Given the description of an element on the screen output the (x, y) to click on. 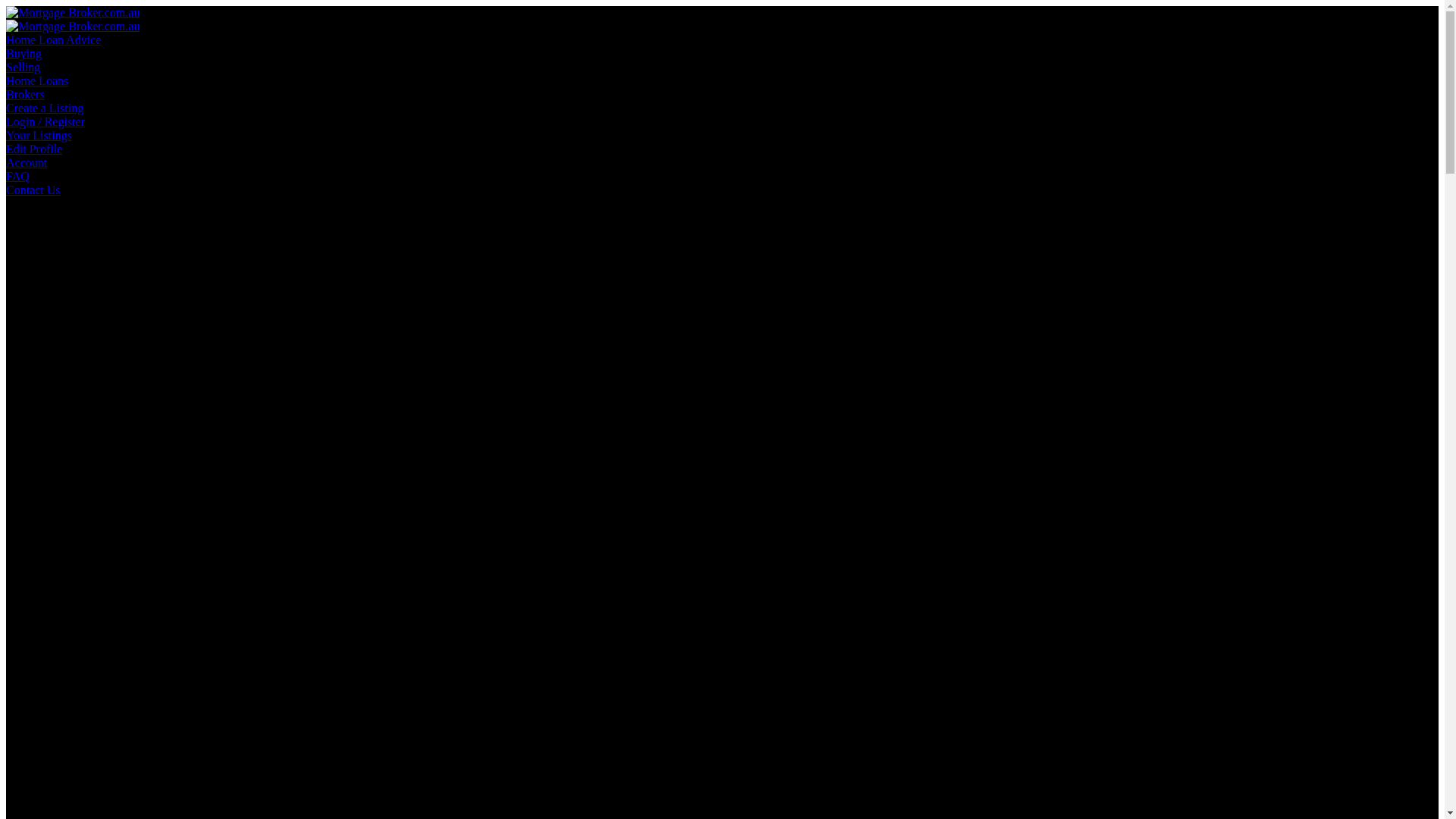
Mortgage Broker.com.au Element type: hover (72, 12)
Contact Us Element type: text (33, 189)
Create a Listing Element type: text (44, 107)
Edit Profile Element type: text (34, 148)
Account Element type: text (26, 162)
Login / Register Element type: text (45, 121)
Selling Element type: text (23, 66)
FAQ Element type: text (17, 175)
Home Loans Element type: text (37, 80)
Your Listings Element type: text (39, 134)
Brokers Element type: text (25, 93)
Mortgage Broker.com.au Element type: hover (72, 25)
Home Loan Advice Element type: text (53, 39)
Buying Element type: text (23, 53)
